Given the description of an element on the screen output the (x, y) to click on. 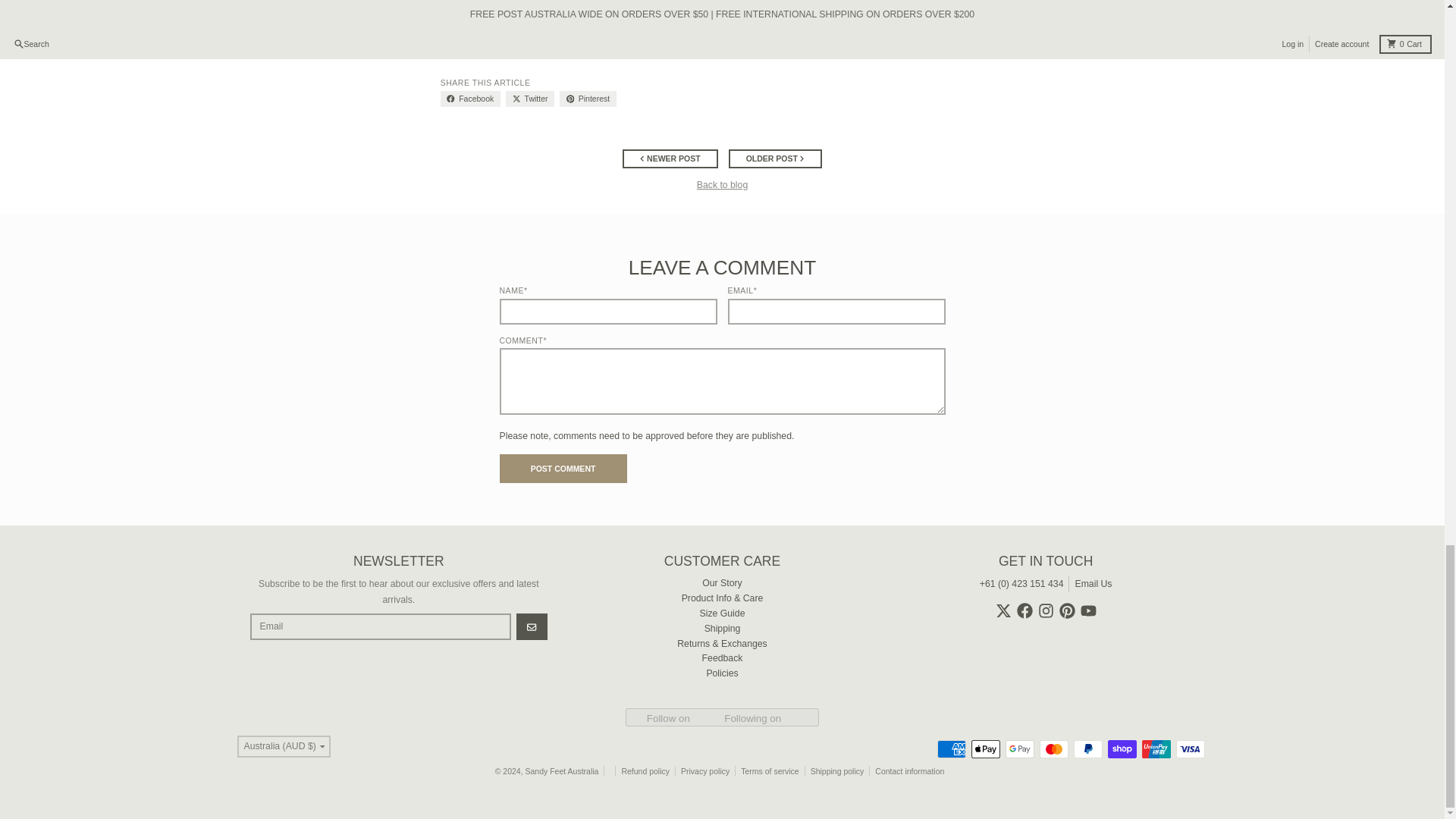
Post comment (562, 469)
Twitter - Sandy Feet Australia (1003, 610)
YouTube - Sandy Feet Australia (1088, 610)
Pinterest - Sandy Feet Australia (1067, 610)
Facebook - Sandy Feet Australia (1024, 610)
Instagram - Sandy Feet Australia (1046, 610)
